Given the description of an element on the screen output the (x, y) to click on. 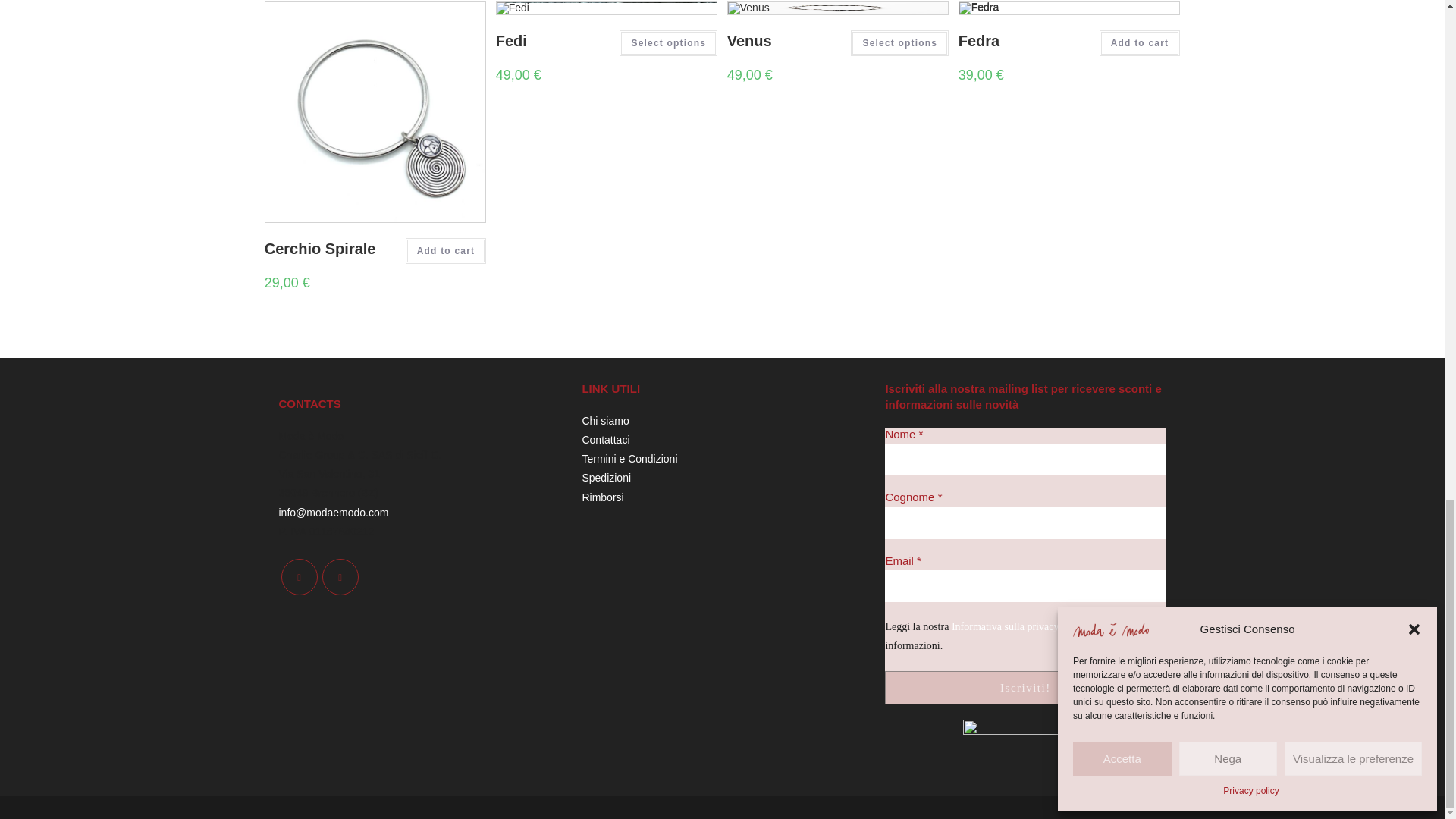
Cognome (1025, 522)
Nome (1025, 459)
Iscriviti! (1025, 687)
Email (1025, 586)
